Given the description of an element on the screen output the (x, y) to click on. 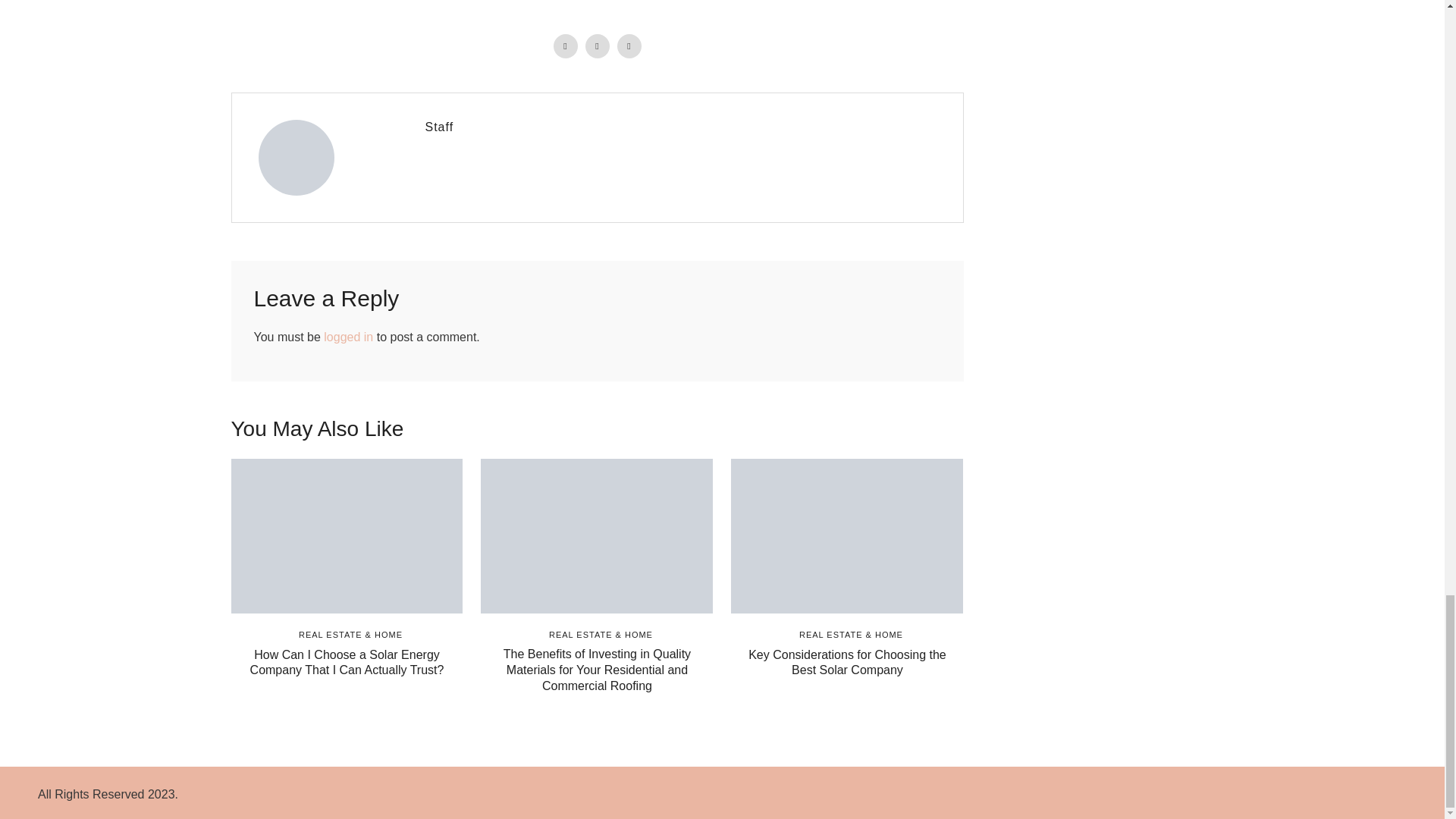
Key Considerations for Choosing the Best Solar Company (847, 662)
logged in (347, 336)
